Given the description of an element on the screen output the (x, y) to click on. 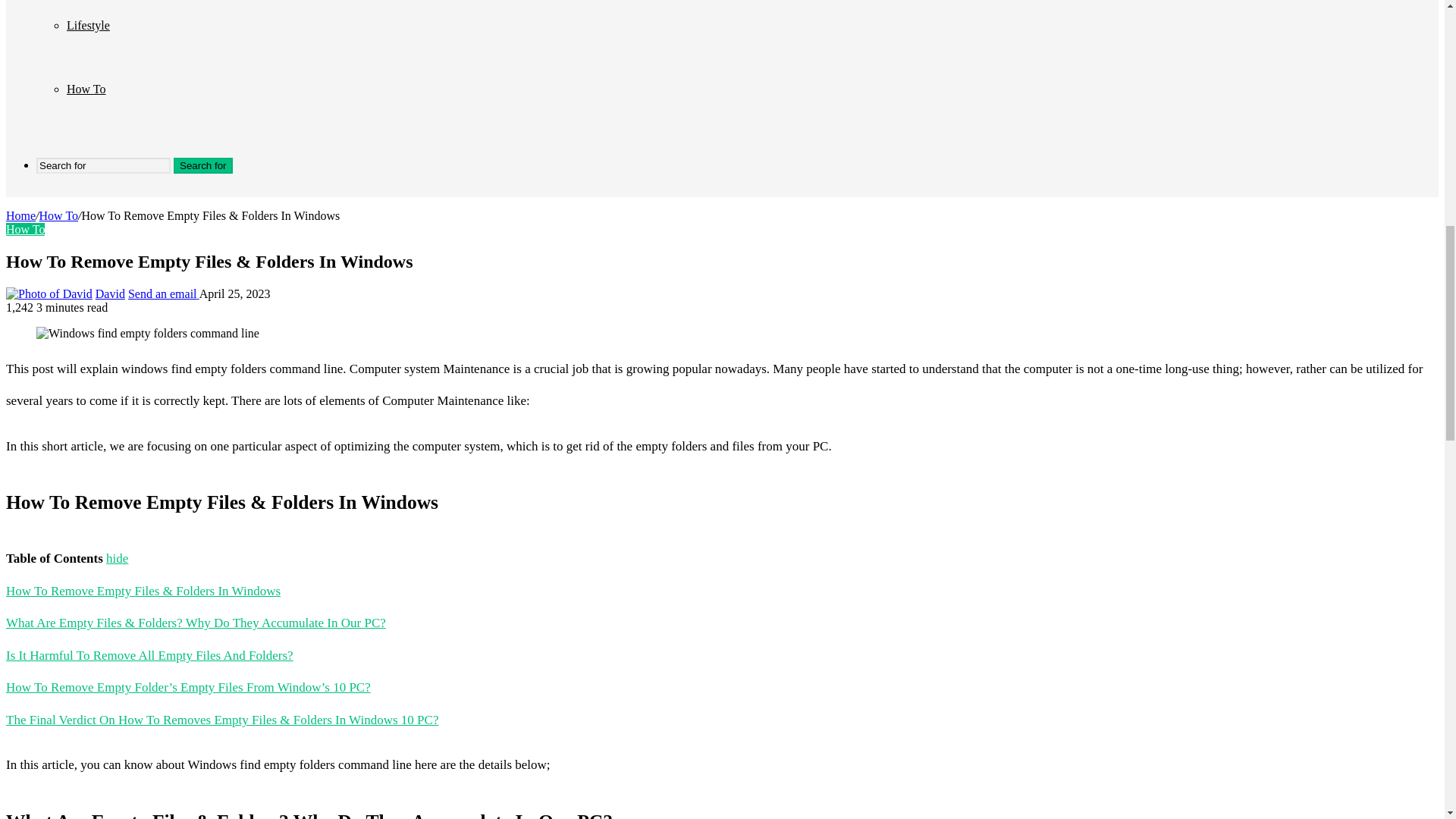
Search for (202, 165)
hide (117, 558)
Send an email (163, 293)
David (110, 293)
Is It Harmful To Remove All Empty Files And Folders? (149, 655)
Home (19, 215)
How To (85, 88)
How To (58, 215)
David (110, 293)
How To (25, 228)
